Given the description of an element on the screen output the (x, y) to click on. 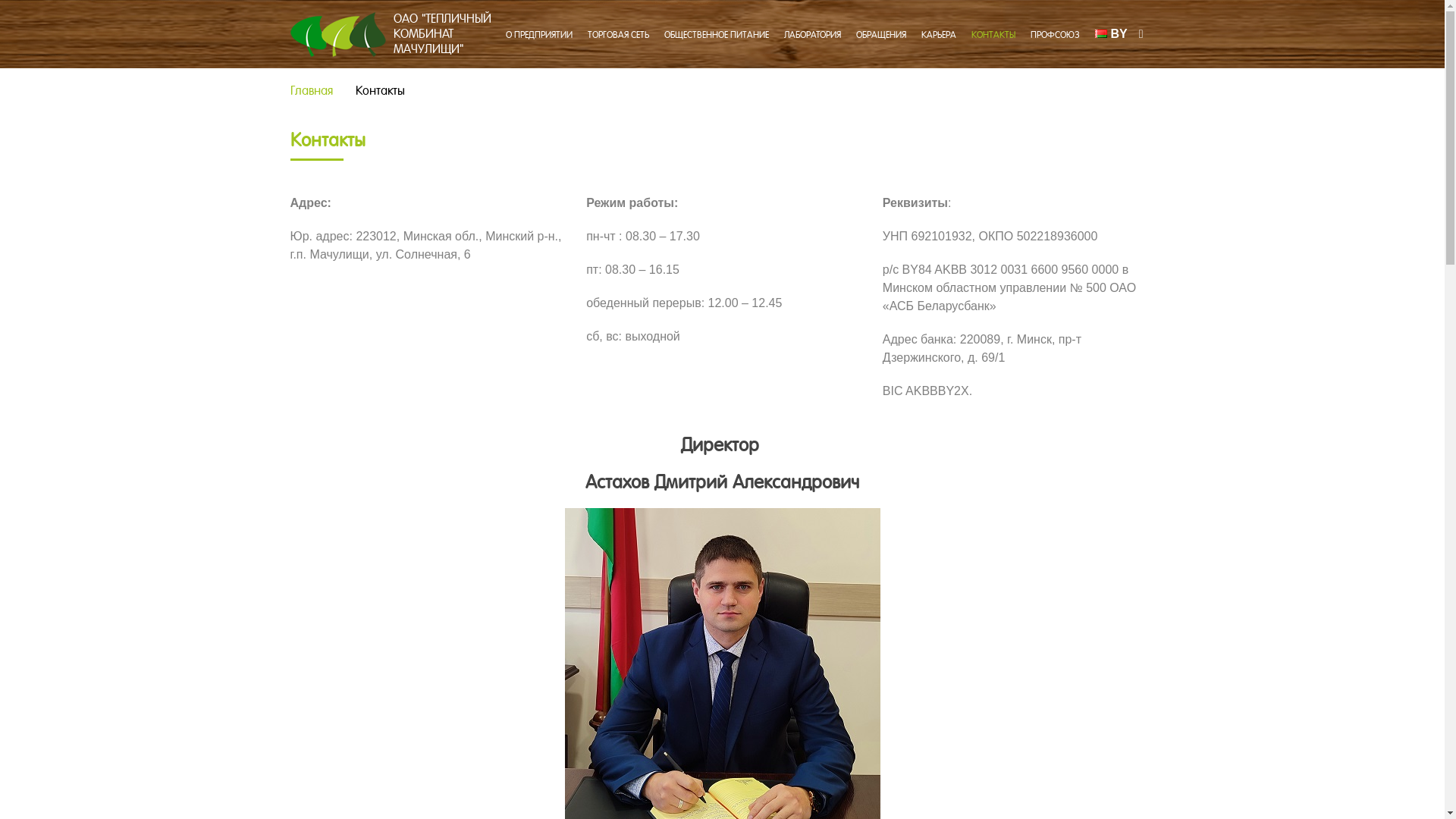
BY Element type: text (1111, 33)
